Given the description of an element on the screen output the (x, y) to click on. 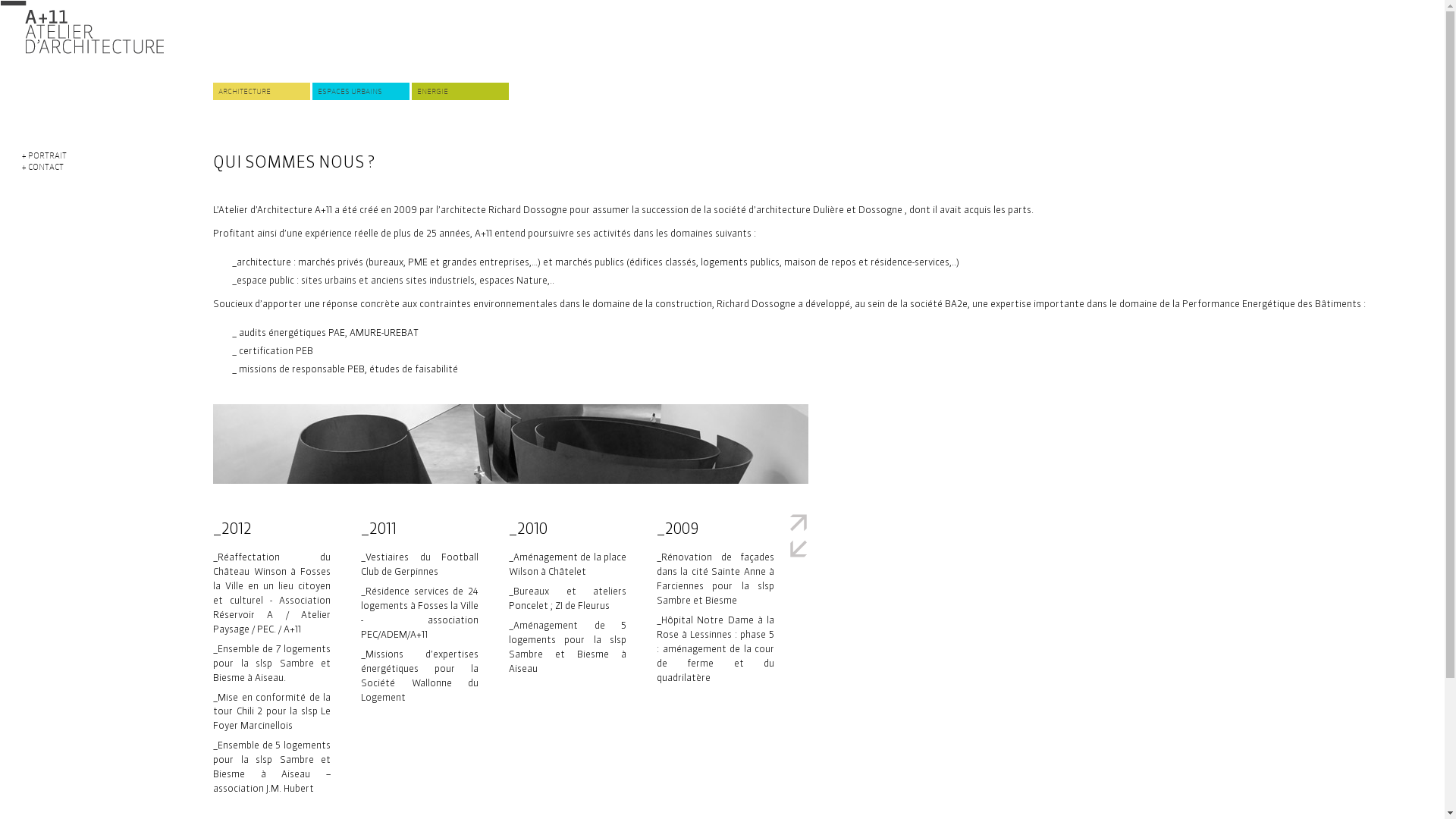
ESPACES URBAINS Element type: text (360, 91)
+ CONTACT Element type: text (42, 166)
Scroll to the right Element type: hover (798, 522)
ARCHITECTURE Element type: text (261, 91)
Scroll to the left Element type: hover (798, 549)
+ PORTRAIT Element type: text (43, 155)
ENERGIE Element type: text (459, 91)
